Given the description of an element on the screen output the (x, y) to click on. 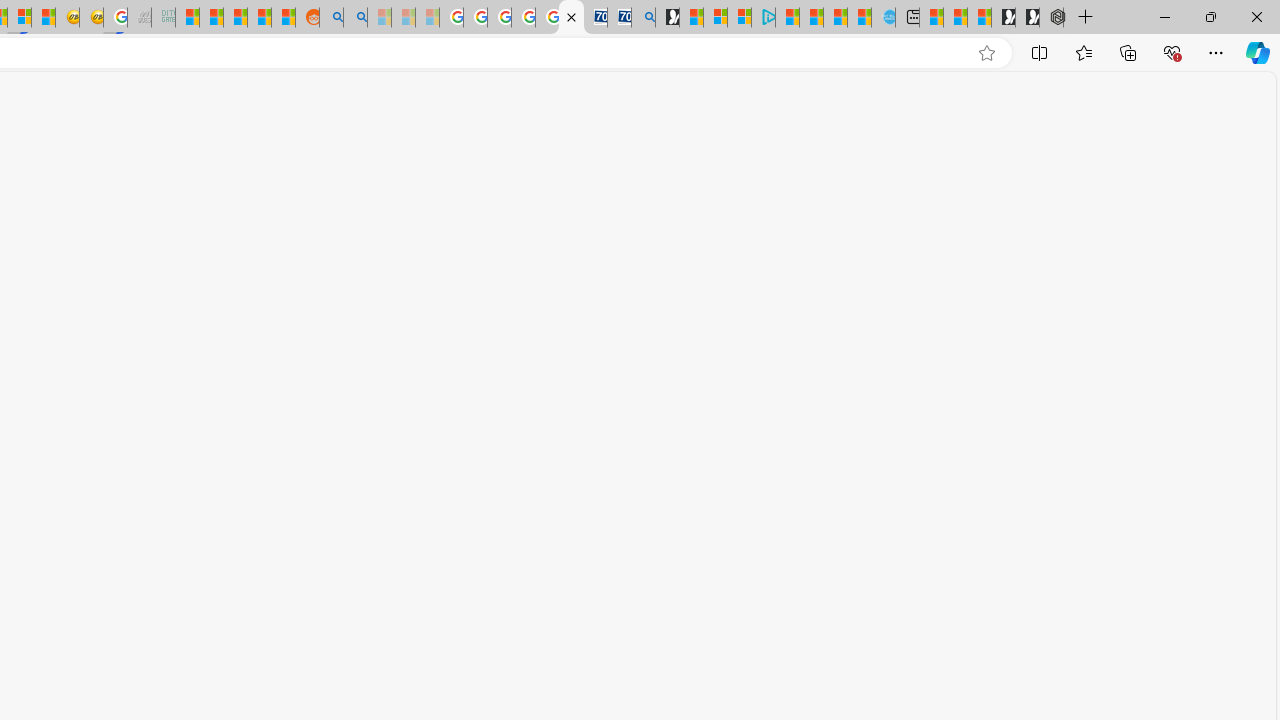
Navy Quest (139, 17)
Home | Sky Blue Bikes - Sky Blue Bikes (882, 17)
Student Loan Update: Forgiveness Program Ends This Month (259, 17)
Cheap Car Rentals - Save70.com (619, 17)
Utah sues federal government - Search (355, 17)
Nordace - Nordace Siena Is Not An Ordinary Backpack (1051, 17)
Play Free Online Games | Games from Microsoft Start (1027, 17)
